Given the description of an element on the screen output the (x, y) to click on. 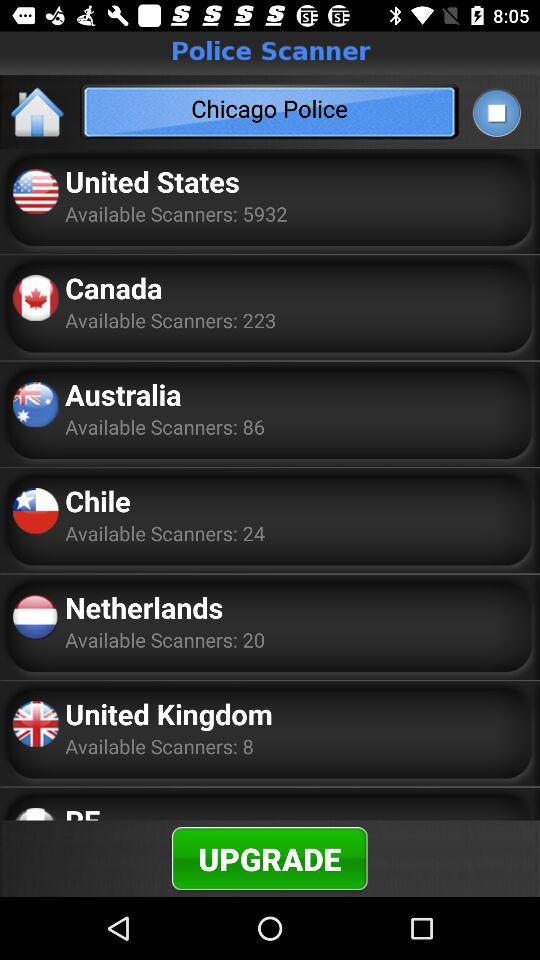
tap the united states item (152, 181)
